Given the description of an element on the screen output the (x, y) to click on. 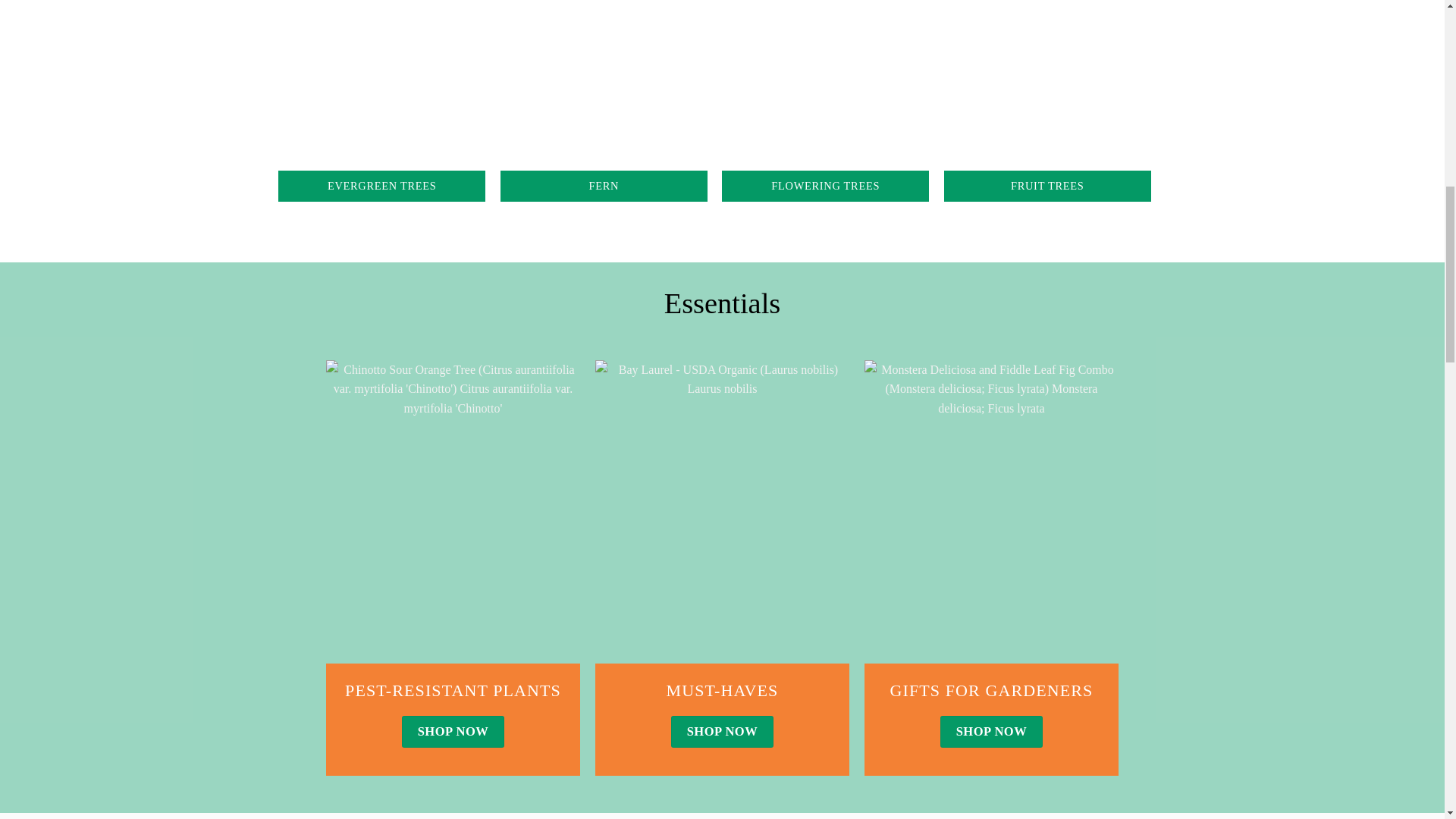
EVERGREEN TREES (381, 101)
FLOWERING TREES (825, 101)
SHOP NOW (722, 731)
FERN (603, 101)
SHOP NOW (991, 731)
SHOP NOW (452, 731)
FRUIT TREES (1047, 101)
